Given the description of an element on the screen output the (x, y) to click on. 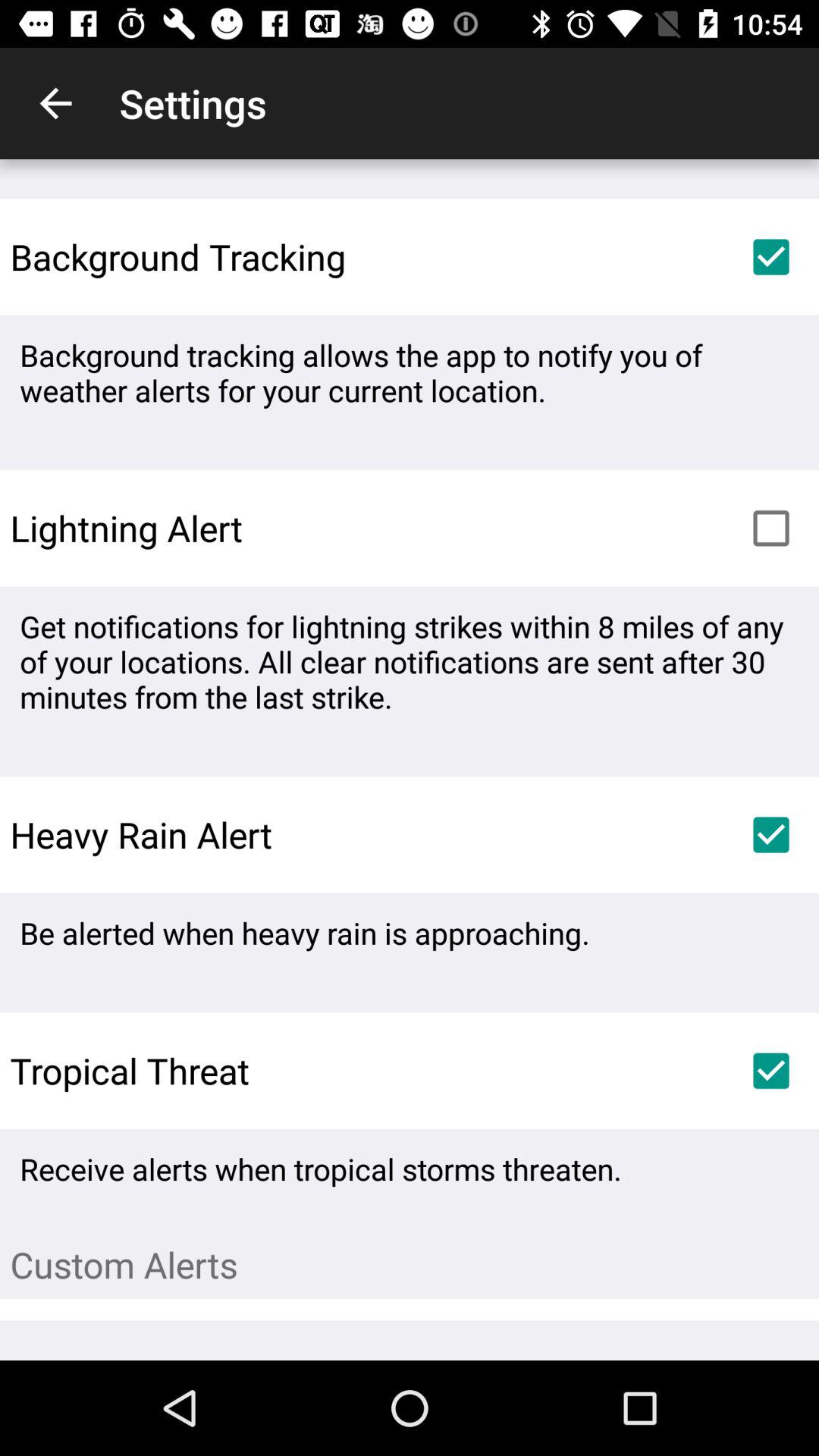
turn on the item next to lightning alert (771, 528)
